Given the description of an element on the screen output the (x, y) to click on. 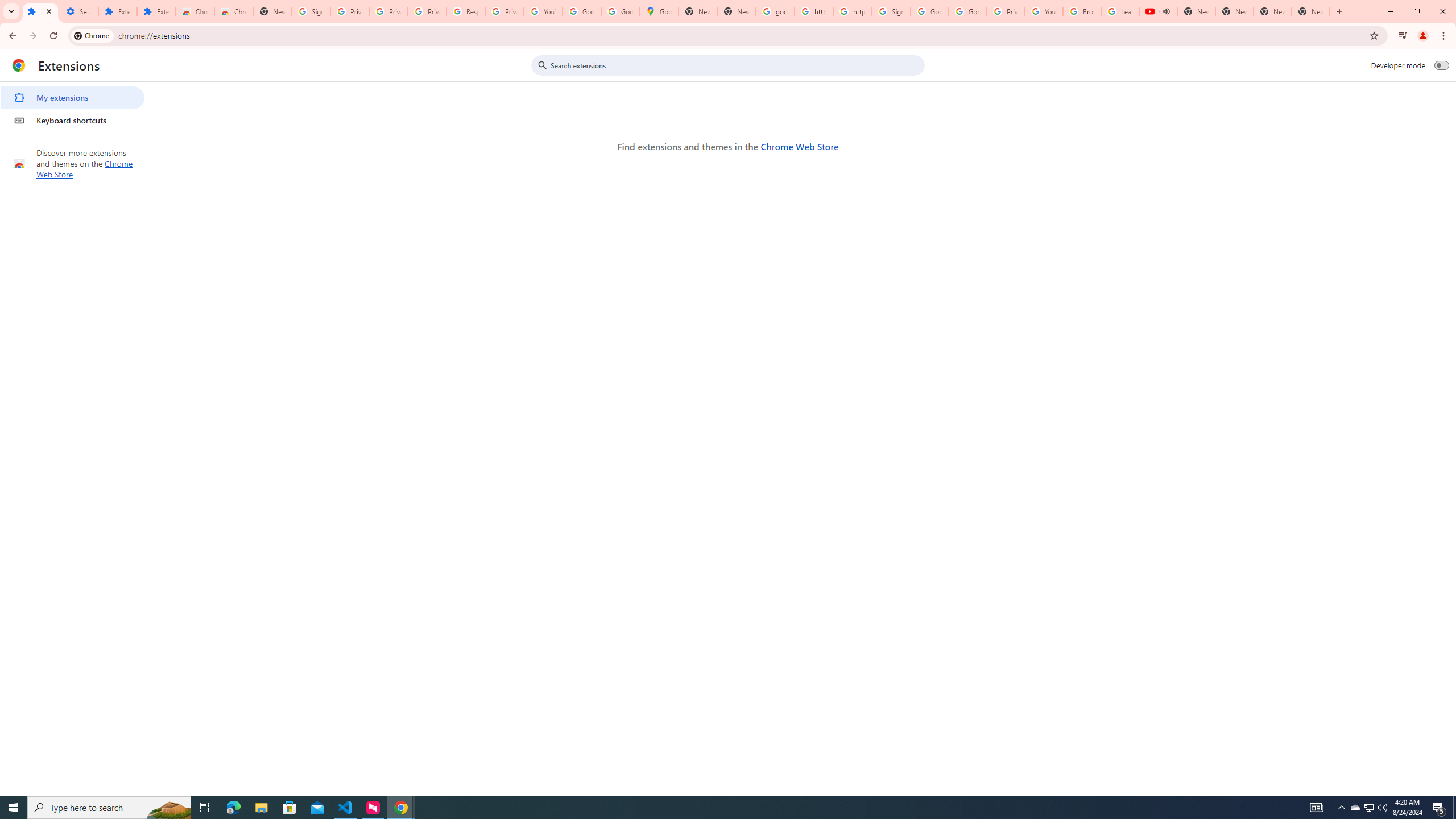
Extensions (40, 11)
New Tab (1311, 11)
Chrome Web Store (194, 11)
Sign in - Google Accounts (890, 11)
AutomationID: sectionMenu (72, 106)
New Tab (272, 11)
